Given the description of an element on the screen output the (x, y) to click on. 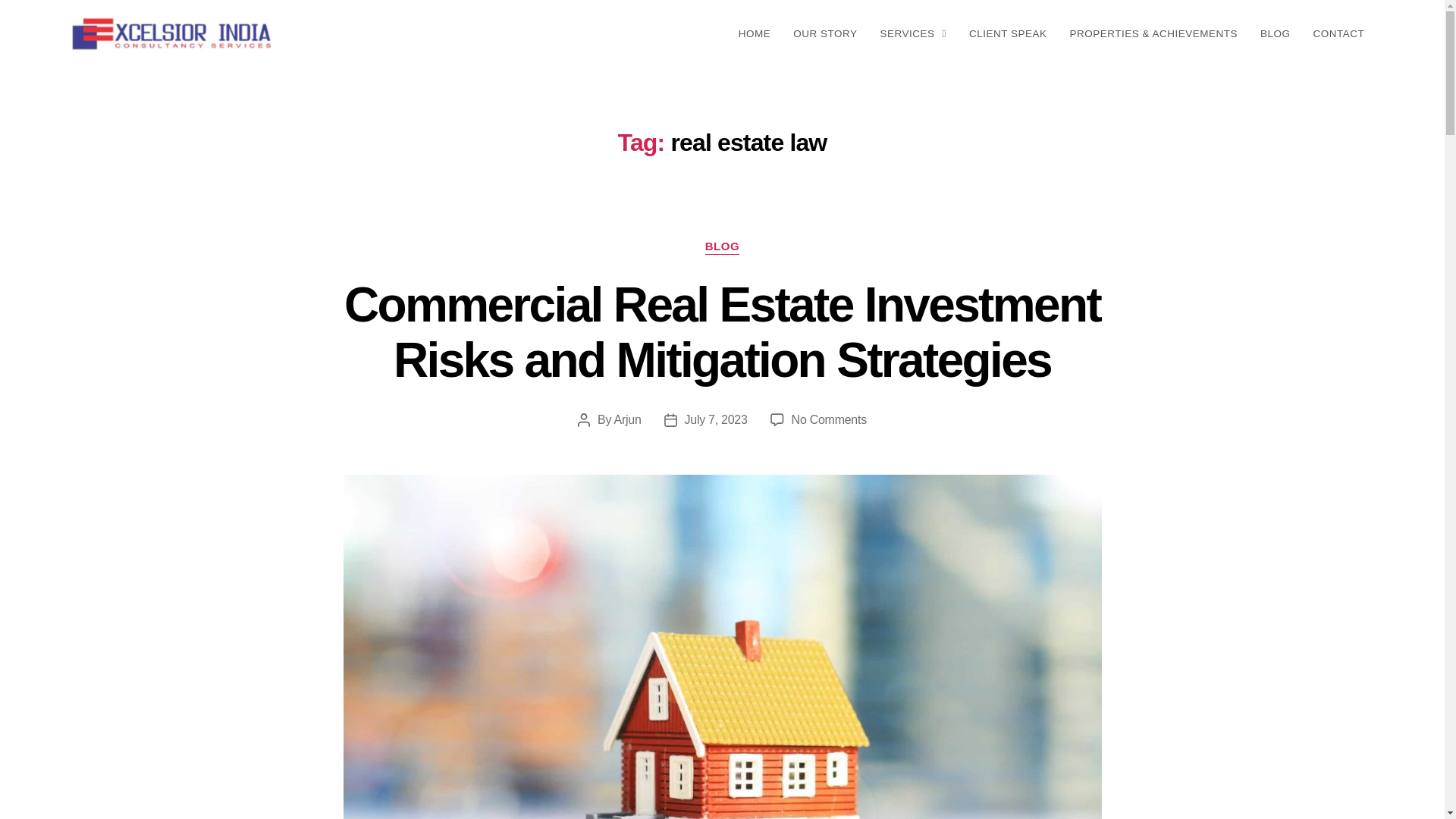
SERVICES (912, 33)
HOME (754, 33)
July 7, 2023 (716, 419)
CLIENT SPEAK (1007, 33)
Arjun (628, 419)
No Comments (829, 419)
OUR STORY (825, 33)
CONTACT (1339, 33)
BLOG (721, 246)
BLOG (1275, 33)
